Given the description of an element on the screen output the (x, y) to click on. 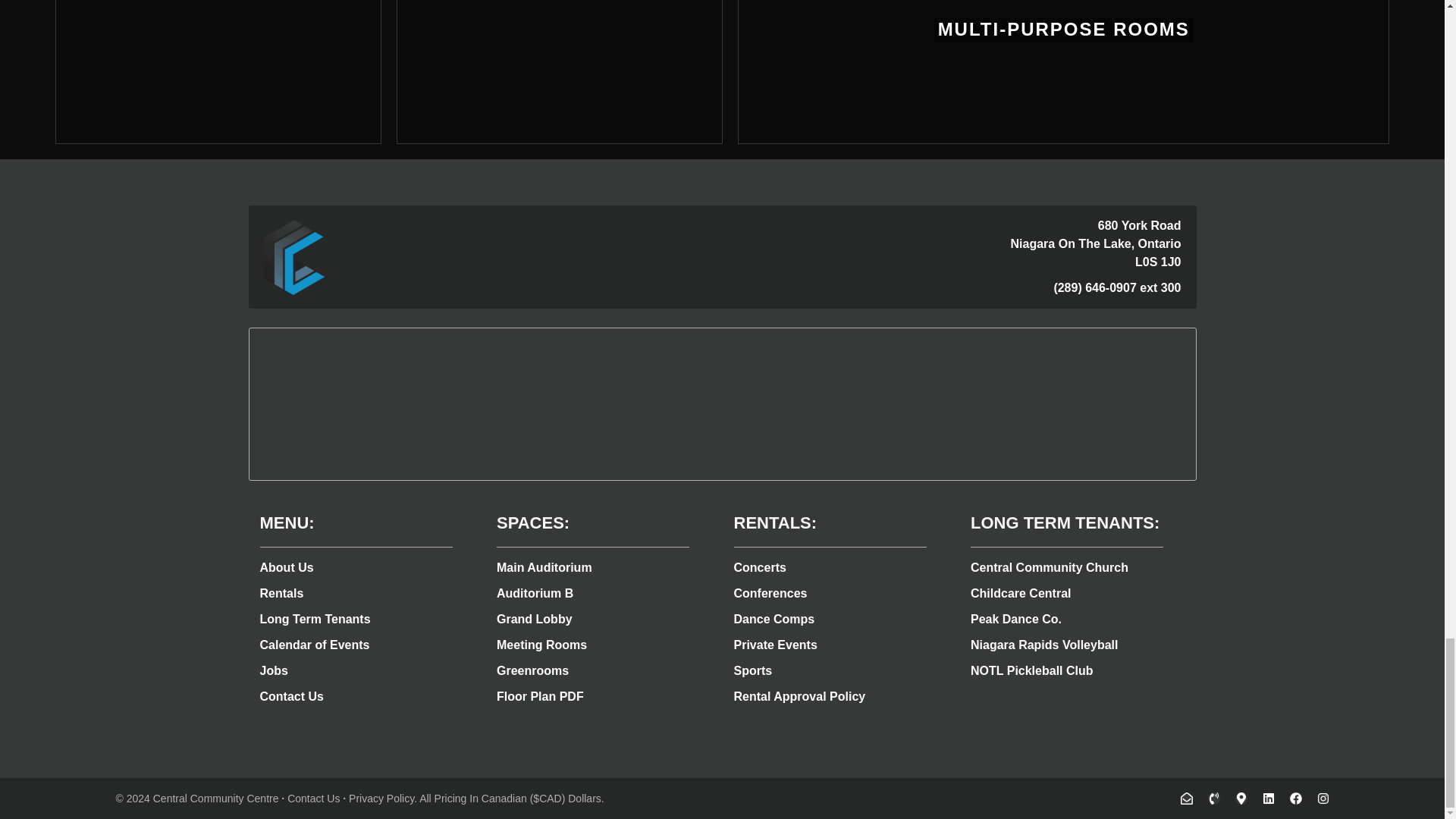
MAIN AUD (559, 72)
GRAND LOBBY (217, 72)
MULTI-PURPOSE ROOMS (1063, 72)
